Given the description of an element on the screen output the (x, y) to click on. 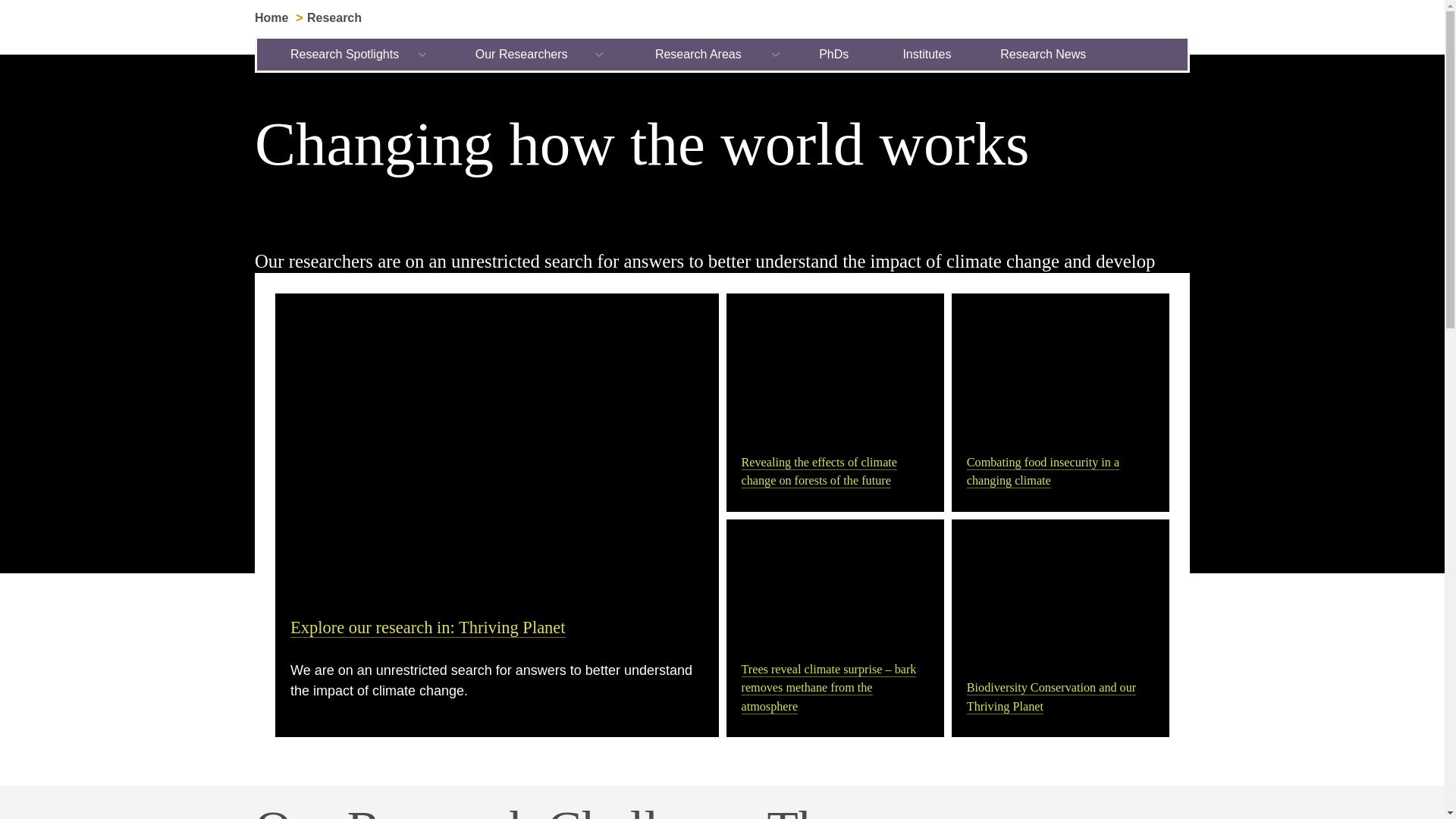
Our Researchers (521, 54)
Home (271, 18)
Research (334, 18)
Research Areas (698, 54)
Research Spotlights (345, 54)
